Given the description of an element on the screen output the (x, y) to click on. 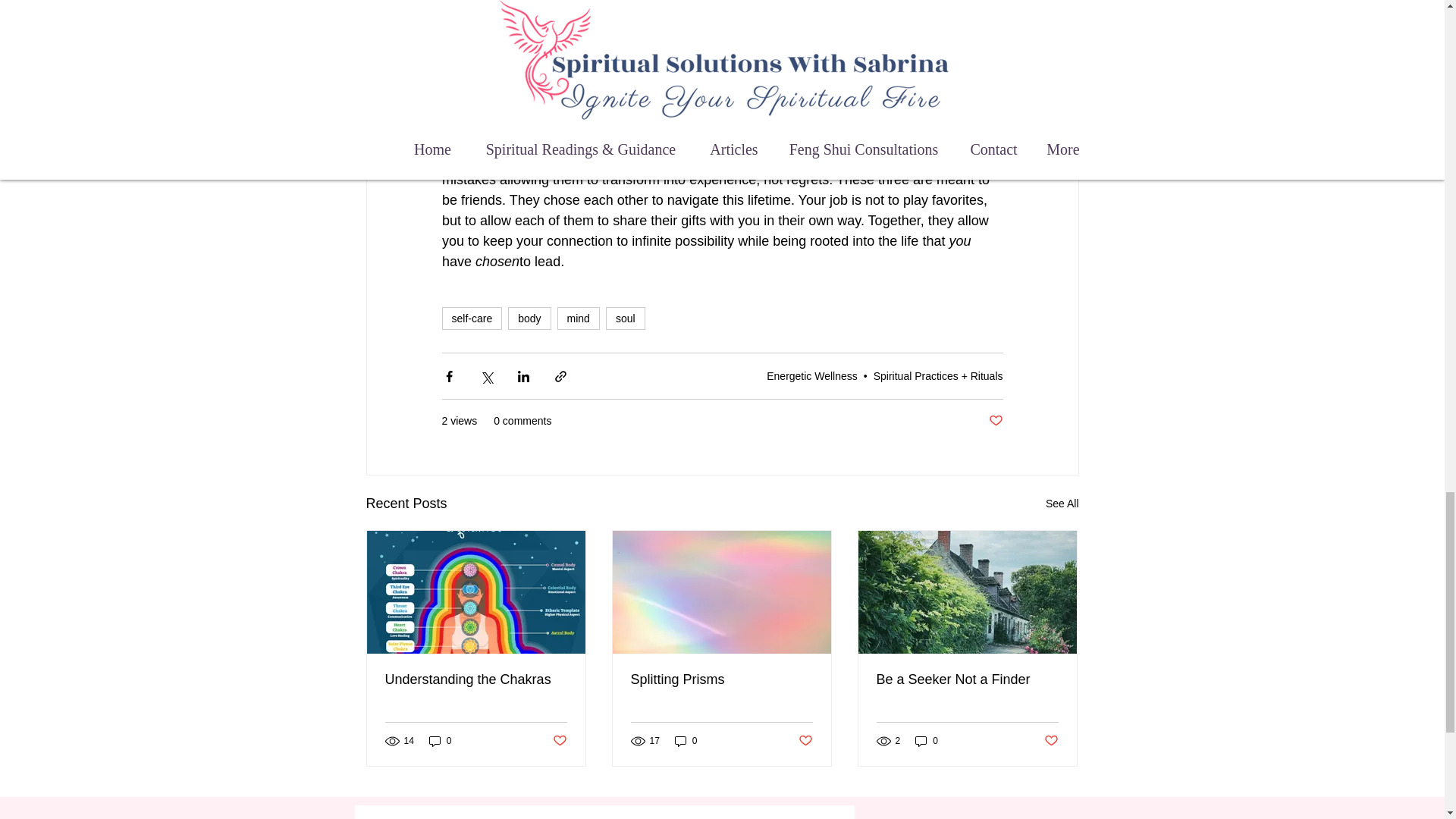
Post not marked as liked (995, 421)
soul (625, 318)
Understanding the Chakras (476, 679)
0 (440, 740)
body (529, 318)
self-care (471, 318)
See All (1061, 504)
Energetic Wellness (812, 376)
mind (578, 318)
Post not marked as liked (558, 740)
